Given the description of an element on the screen output the (x, y) to click on. 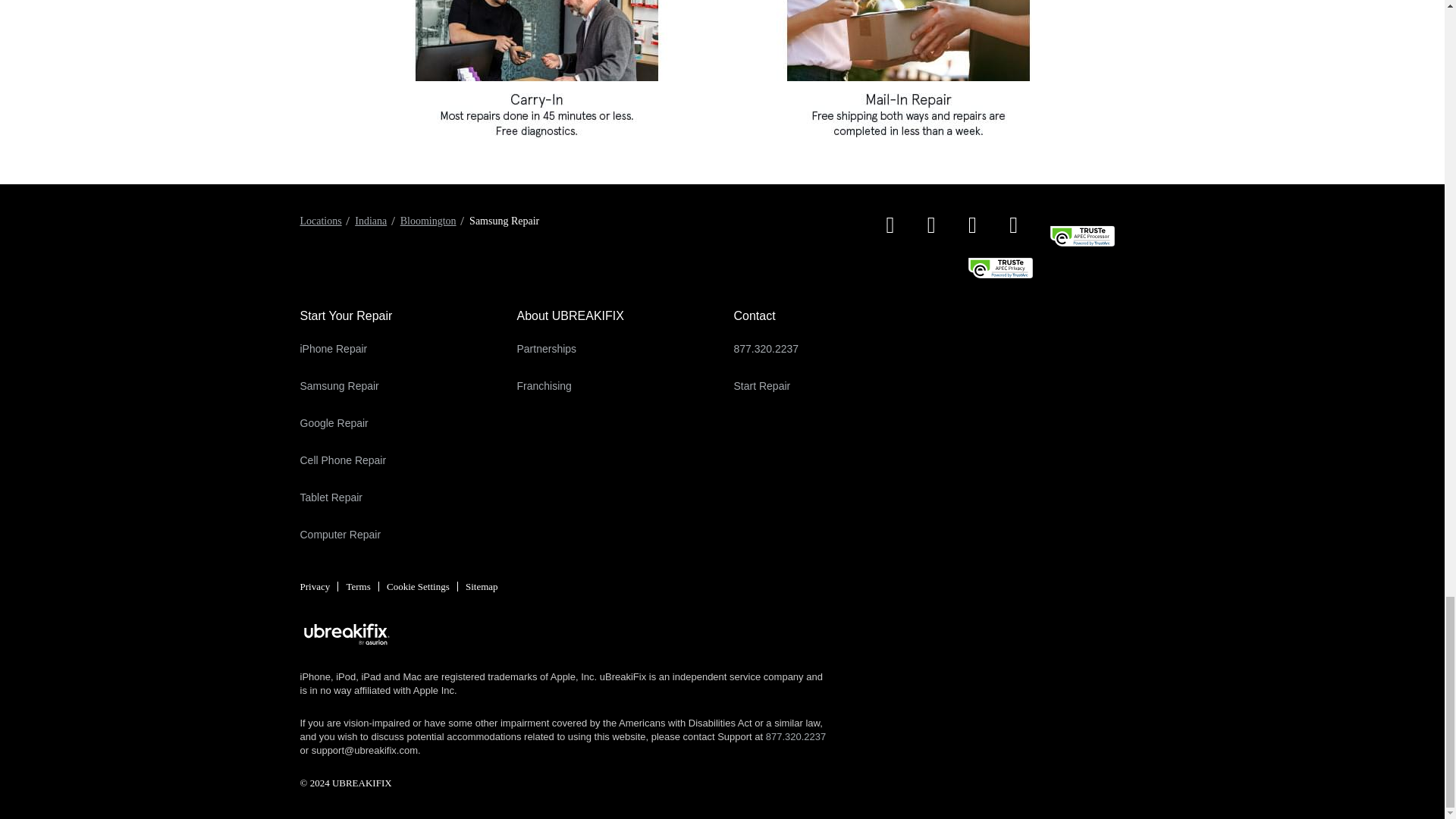
Bloomington (428, 220)
Locations (320, 220)
Indiana (371, 220)
